Given the description of an element on the screen output the (x, y) to click on. 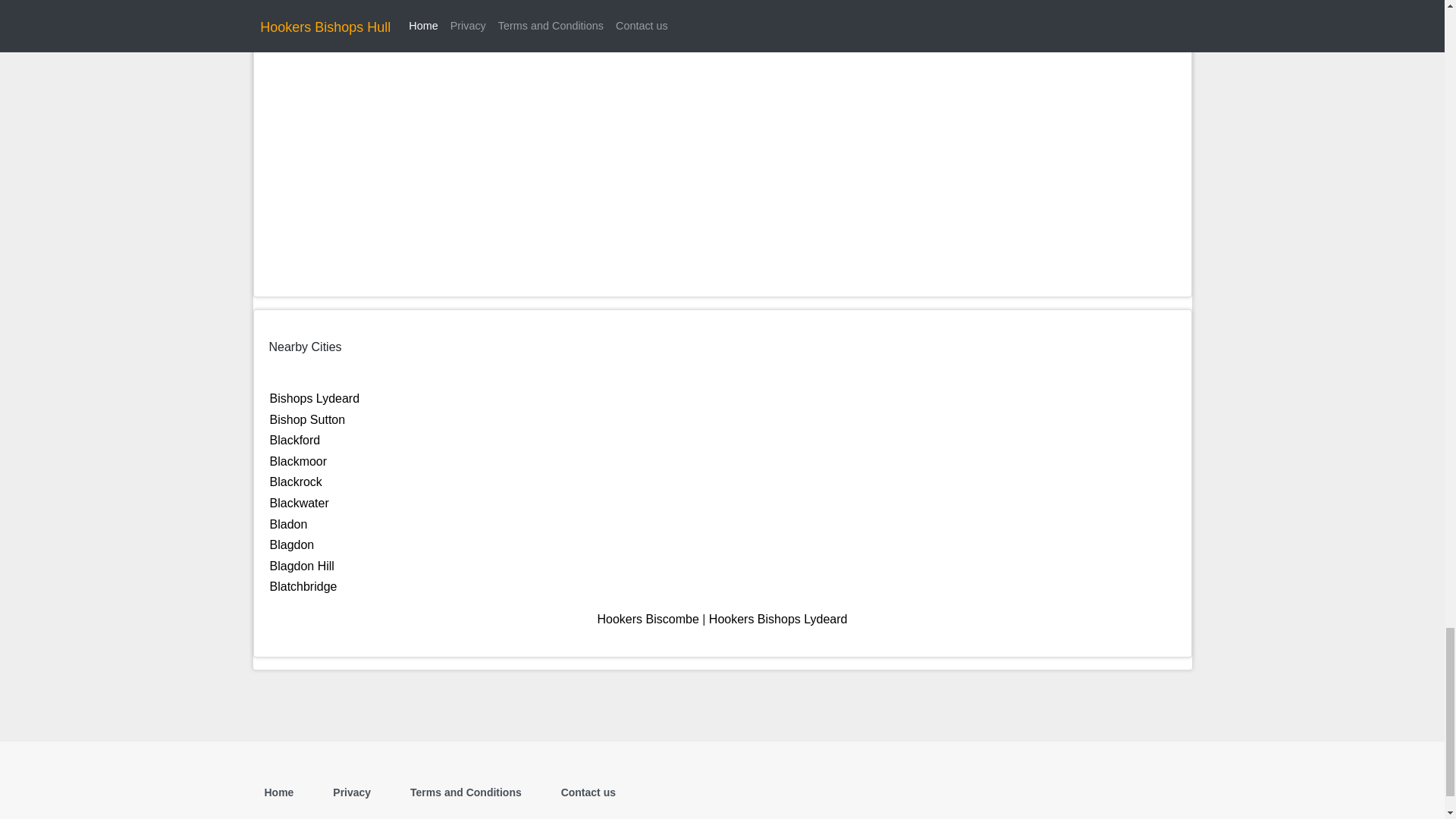
Bishops Lydeard (314, 398)
Blackmoor (298, 461)
Hookers Bishops Lydeard (778, 618)
Blackwater (299, 502)
Blagdon Hill (301, 565)
Bladon (288, 523)
Blagdon (291, 544)
Hookers Biscombe (647, 618)
Bishop Sutton (307, 419)
Blackrock (295, 481)
